Given the description of an element on the screen output the (x, y) to click on. 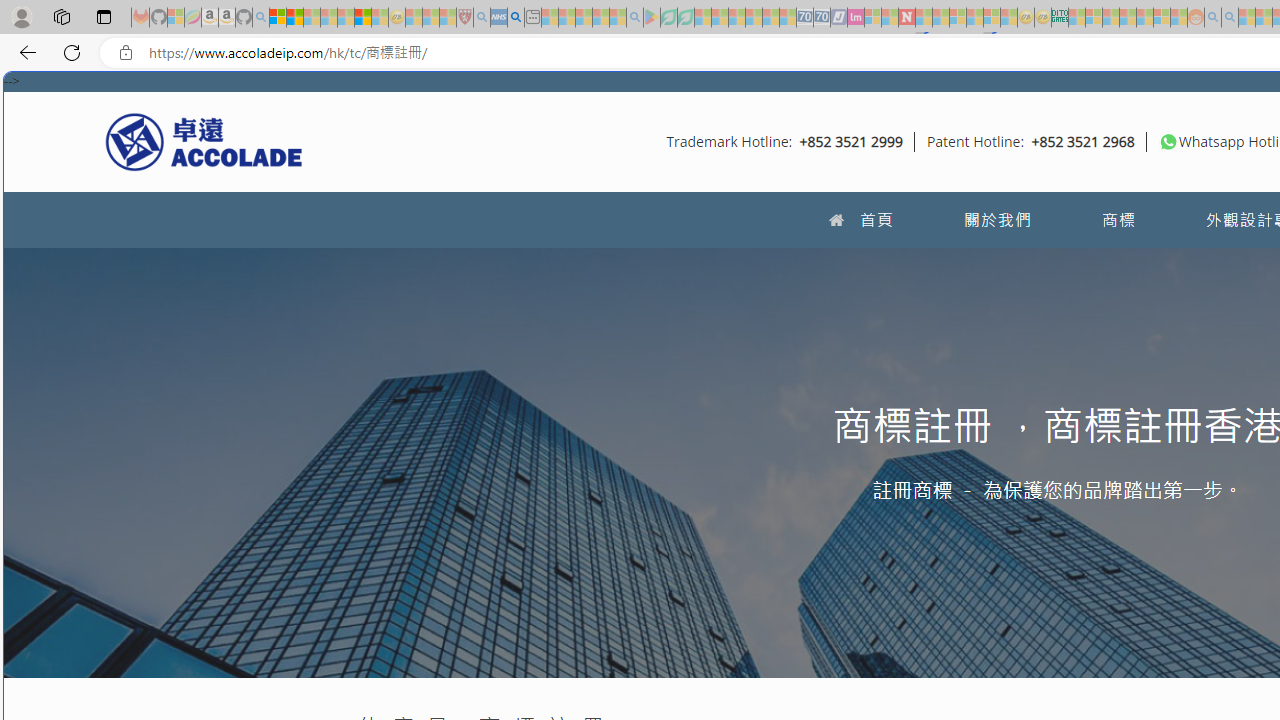
Accolade IP HK Logo (203, 141)
The Weather Channel - MSN - Sleeping (311, 17)
Latest Politics News & Archive | Newsweek.com - Sleeping (906, 17)
MSNBC - MSN - Sleeping (1076, 17)
Accolade IP HK Logo (203, 141)
Pets - MSN - Sleeping (600, 17)
utah sues federal government - Search (515, 17)
